Given the description of an element on the screen output the (x, y) to click on. 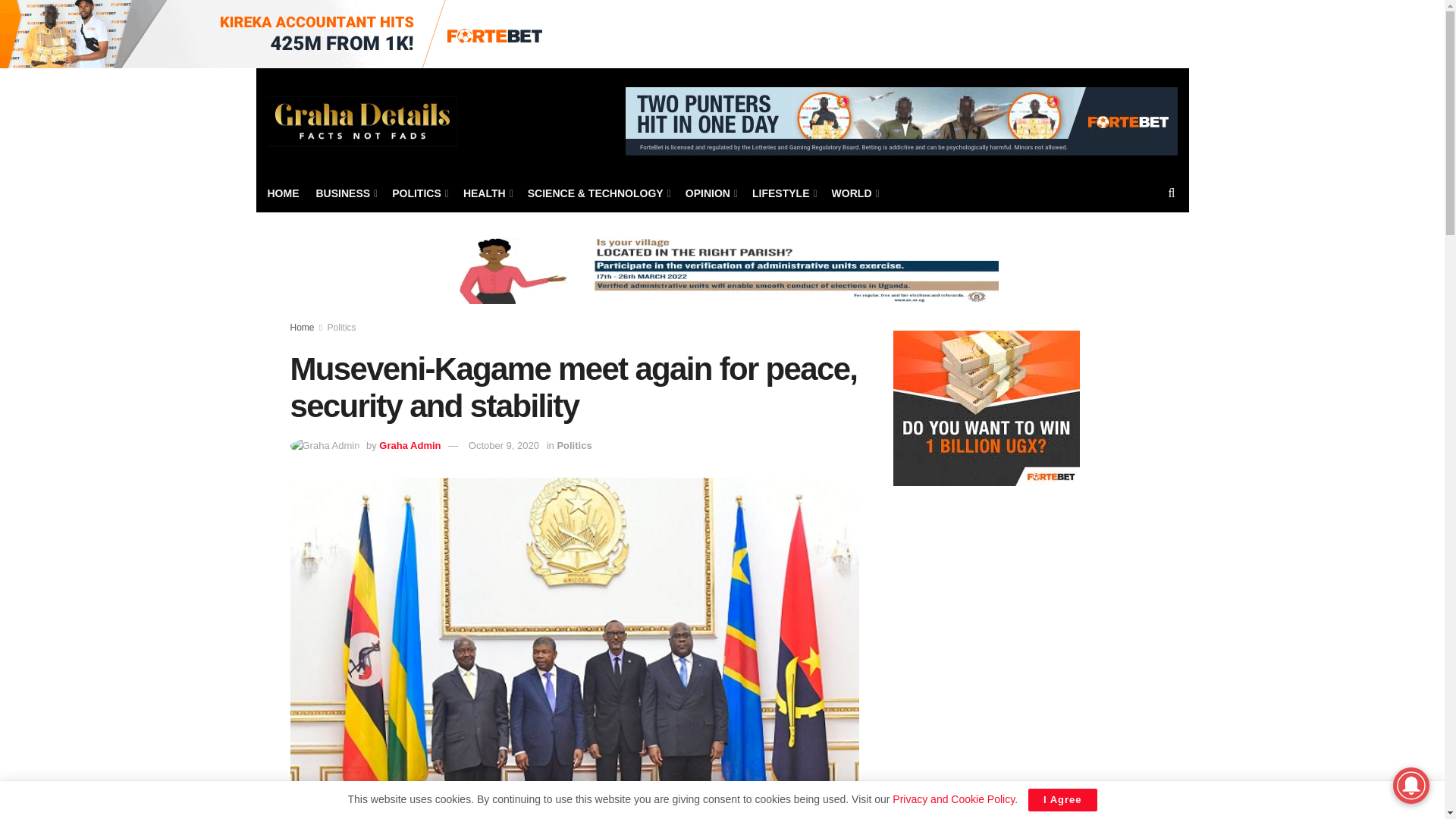
HOME (282, 192)
BUSINESS (345, 192)
POLITICS (418, 192)
HEALTH (487, 192)
